Given the description of an element on the screen output the (x, y) to click on. 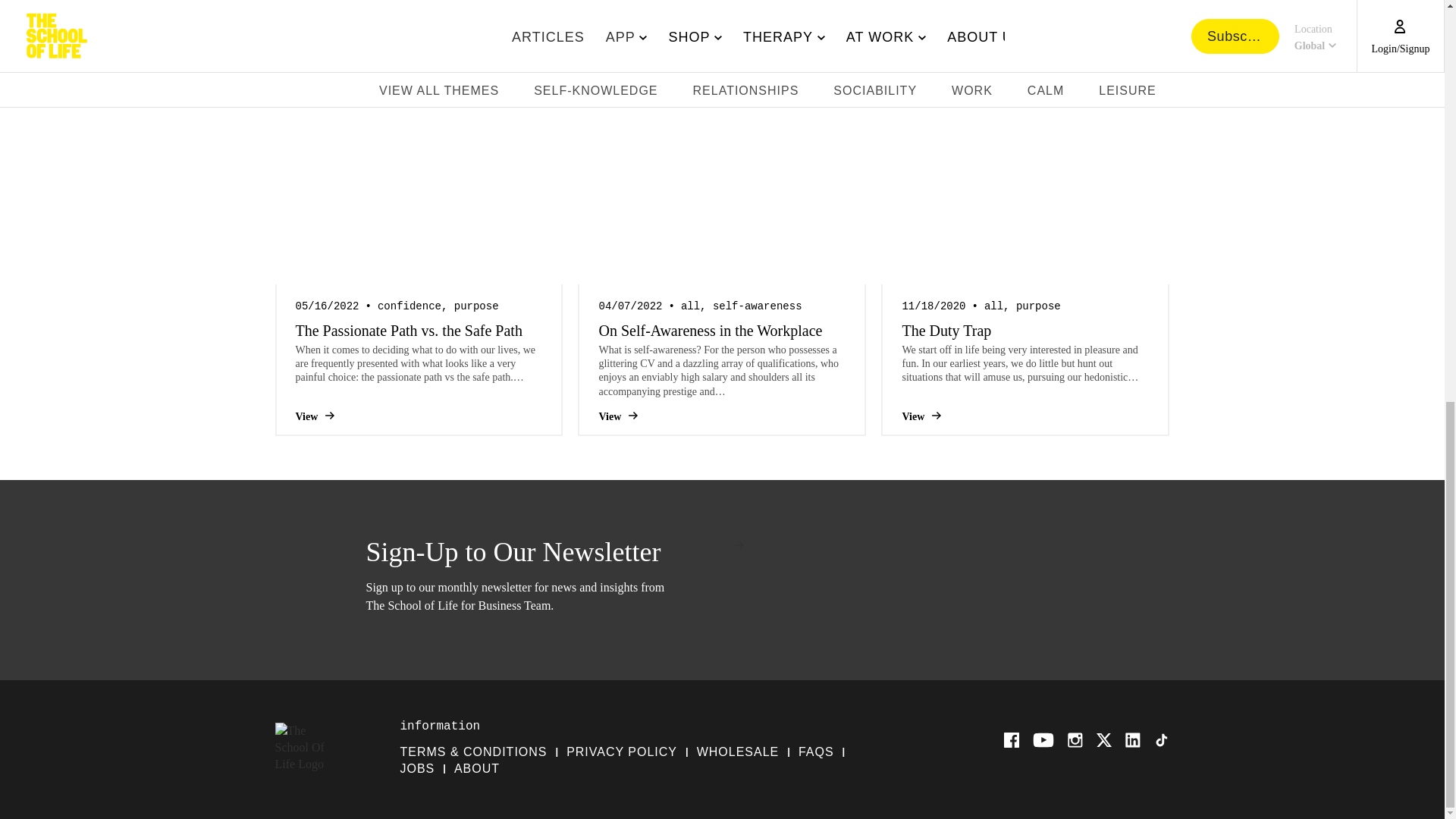
Follow us on Instagram (1075, 739)
Follow us on X (1104, 739)
Follow us on Facebook (1011, 739)
Follow us on TikTok (1161, 739)
Subscribe us on YouTube (1043, 739)
Follow us on LinkedIn (1132, 739)
